Given the description of an element on the screen output the (x, y) to click on. 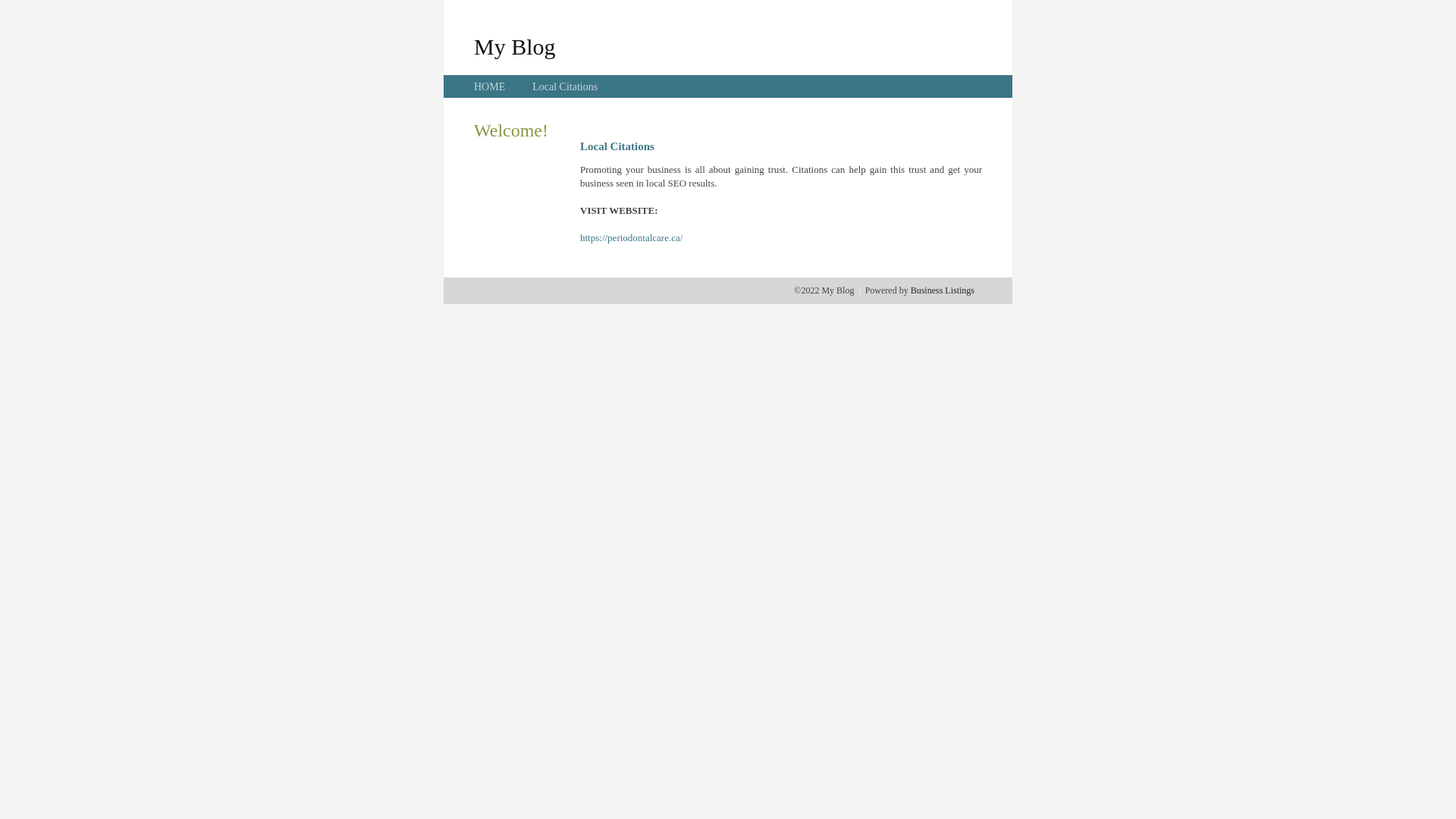
Local Citations Element type: text (564, 86)
HOME Element type: text (489, 86)
https://periodontalcare.ca/ Element type: text (631, 237)
Business Listings Element type: text (942, 290)
My Blog Element type: text (514, 46)
